Given the description of an element on the screen output the (x, y) to click on. 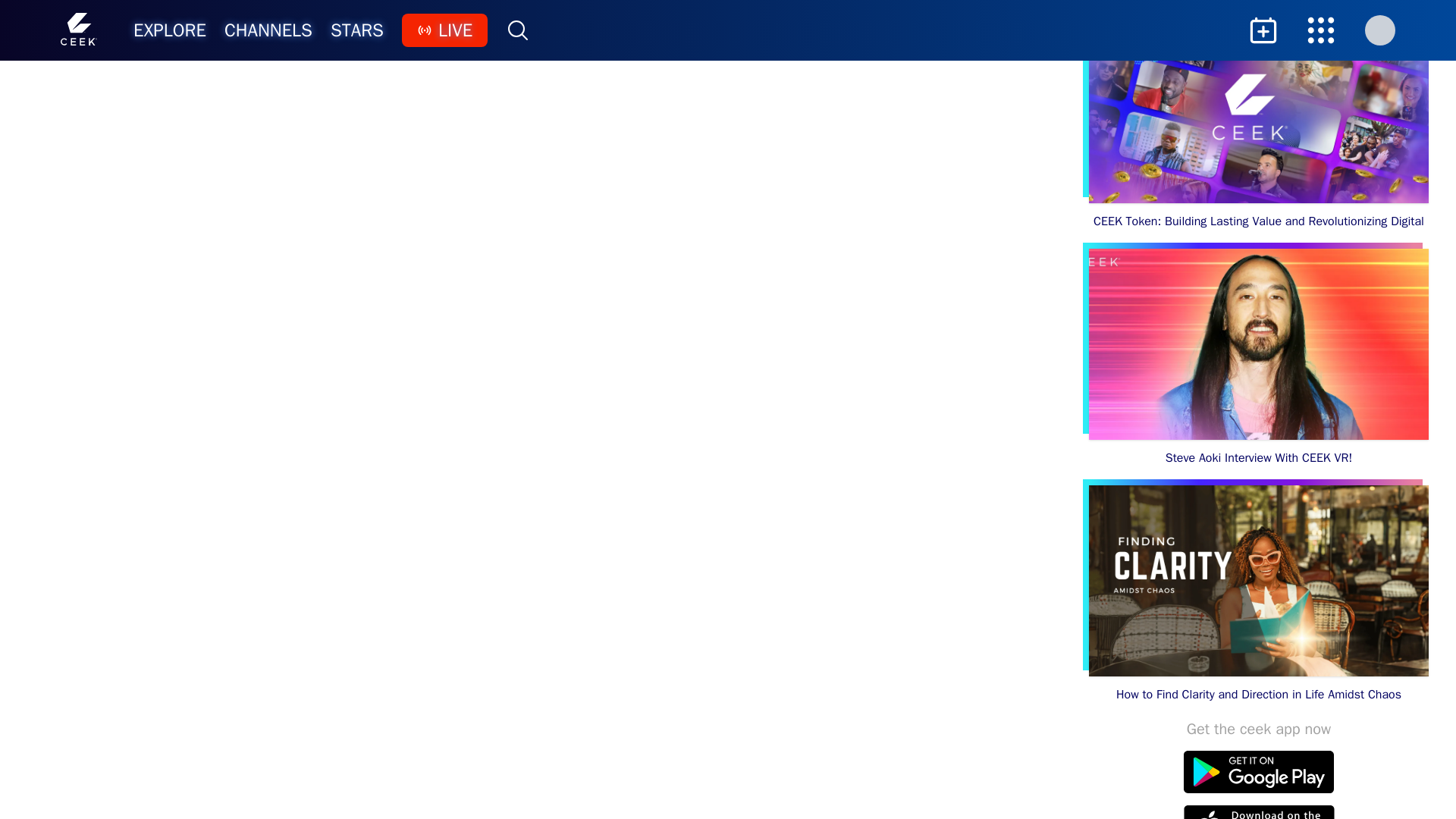
Steve Aoki Interview With CEEK VR! (1258, 357)
How to Find Clarity and Direction in Life Amidst Chaos (1258, 594)
